Given the description of an element on the screen output the (x, y) to click on. 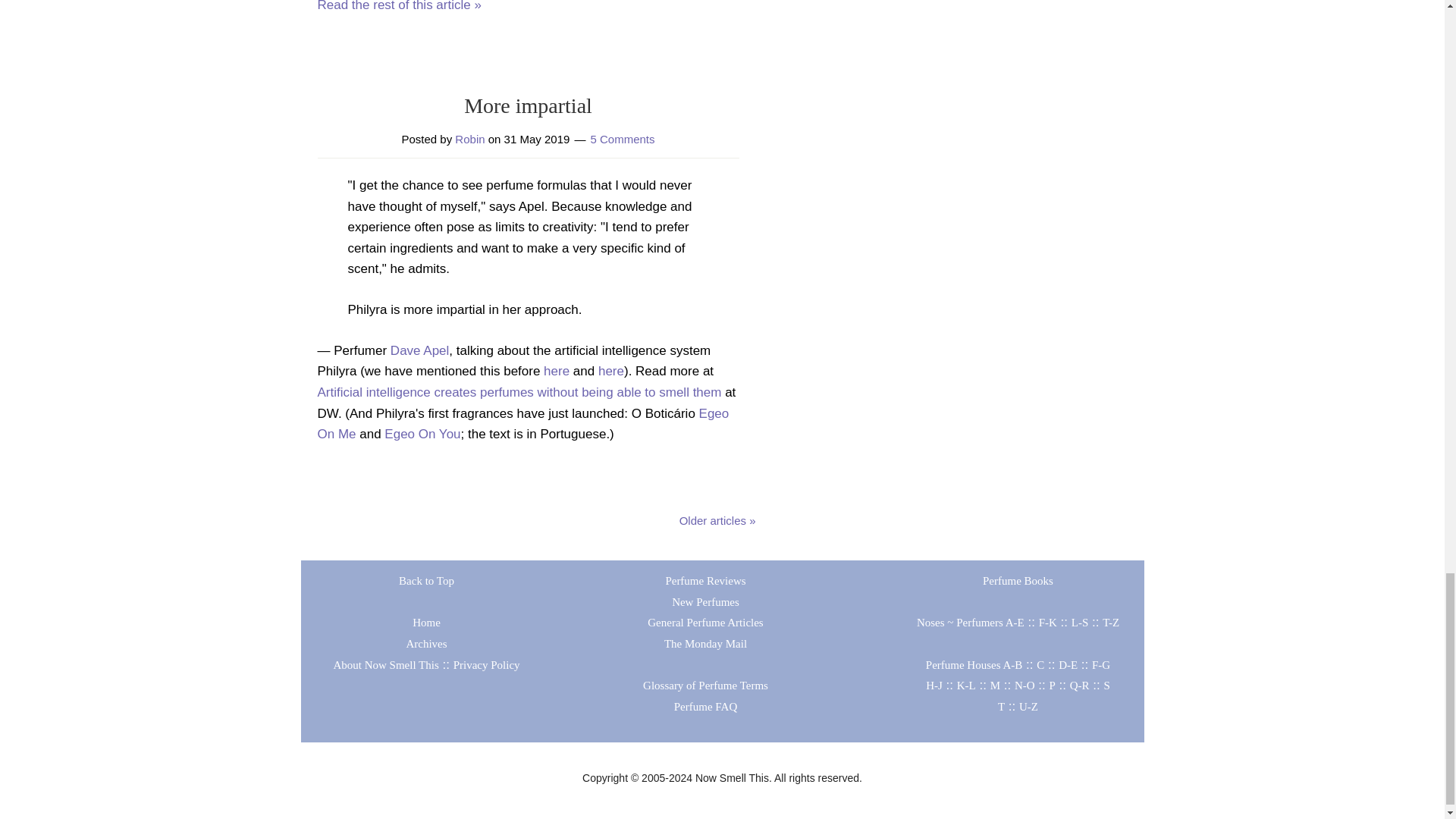
here (611, 370)
here (556, 370)
Dave Apel (419, 350)
5 Comments (621, 138)
More impartial (528, 105)
Robin (469, 138)
